Given the description of an element on the screen output the (x, y) to click on. 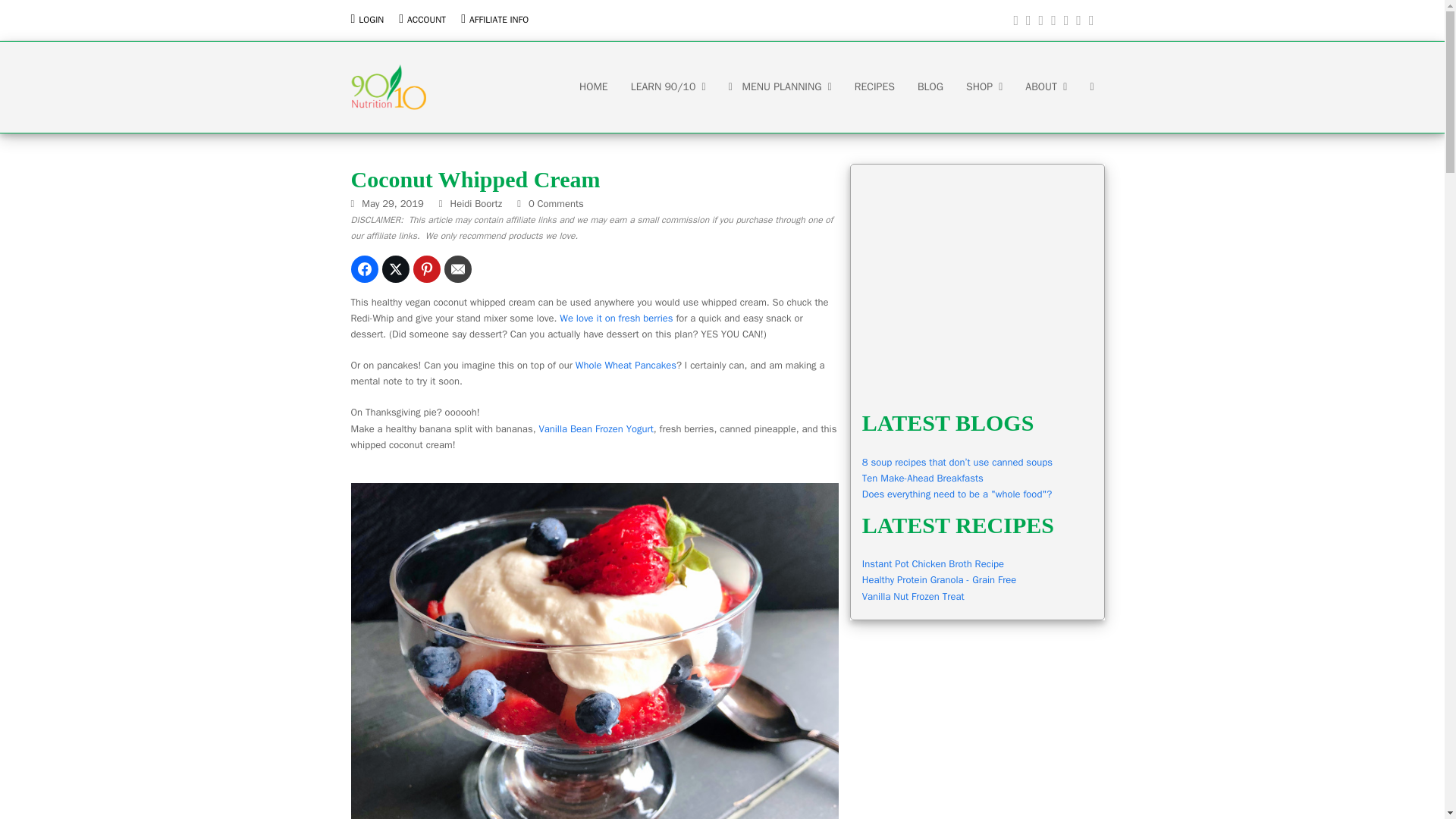
0 Comments (549, 203)
BLOG (930, 86)
Share on Email (457, 268)
LOGIN (371, 19)
Share on Twitter (395, 268)
Share on Pinterest (425, 268)
ABOUT (1045, 86)
HOME (593, 86)
MENU PLANNING (780, 86)
RECIPES (874, 86)
